Given the description of an element on the screen output the (x, y) to click on. 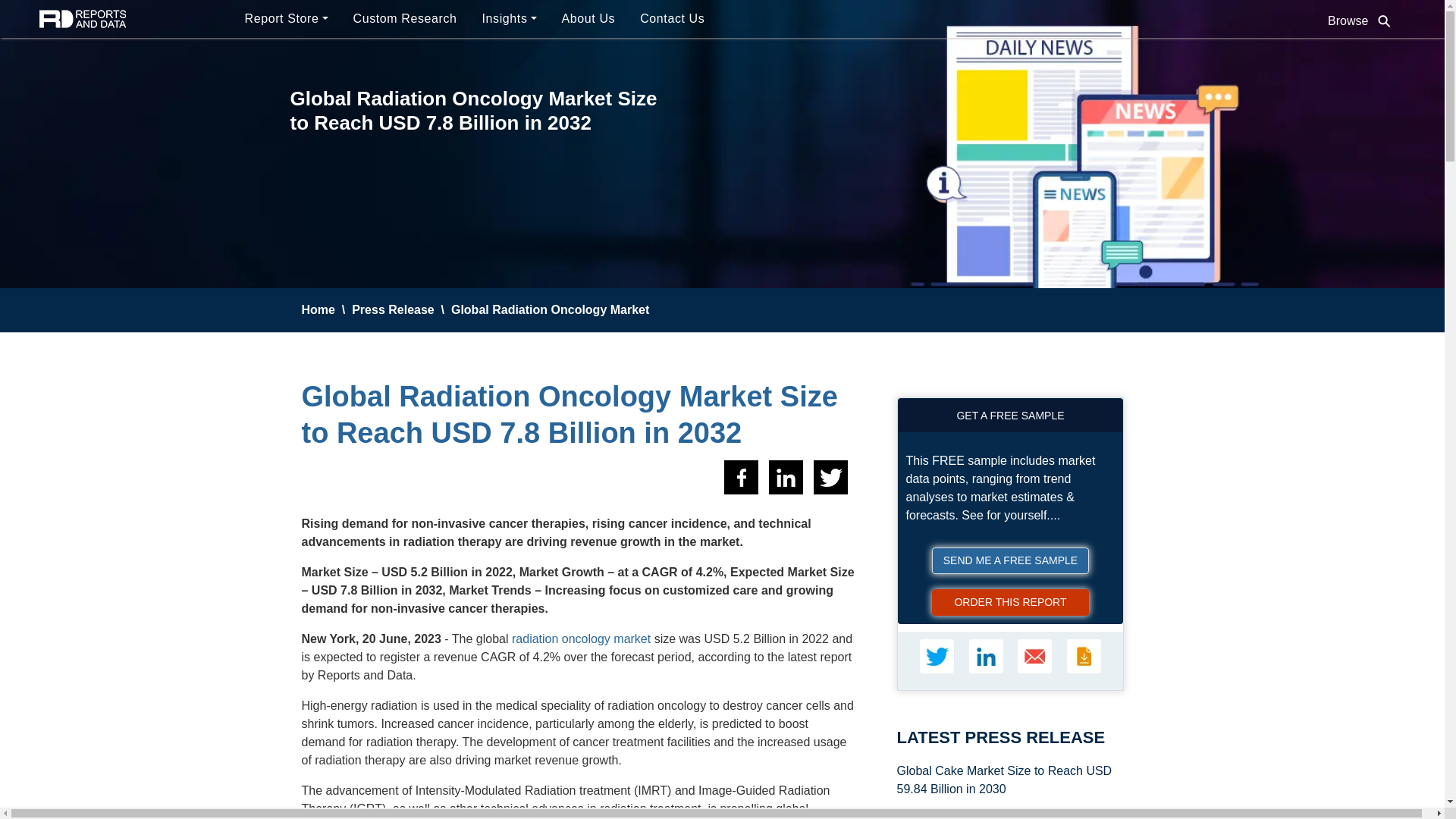
ORDER THIS REPORT (1010, 601)
About Us (591, 19)
Home (317, 309)
Press Release (392, 309)
Custom Research (408, 19)
Share by Email (1034, 656)
Contact Us (675, 19)
SEND ME A FREE SAMPLE (1010, 560)
Report Store (288, 19)
radiation oncology market (581, 638)
Insights (512, 19)
